Given the description of an element on the screen output the (x, y) to click on. 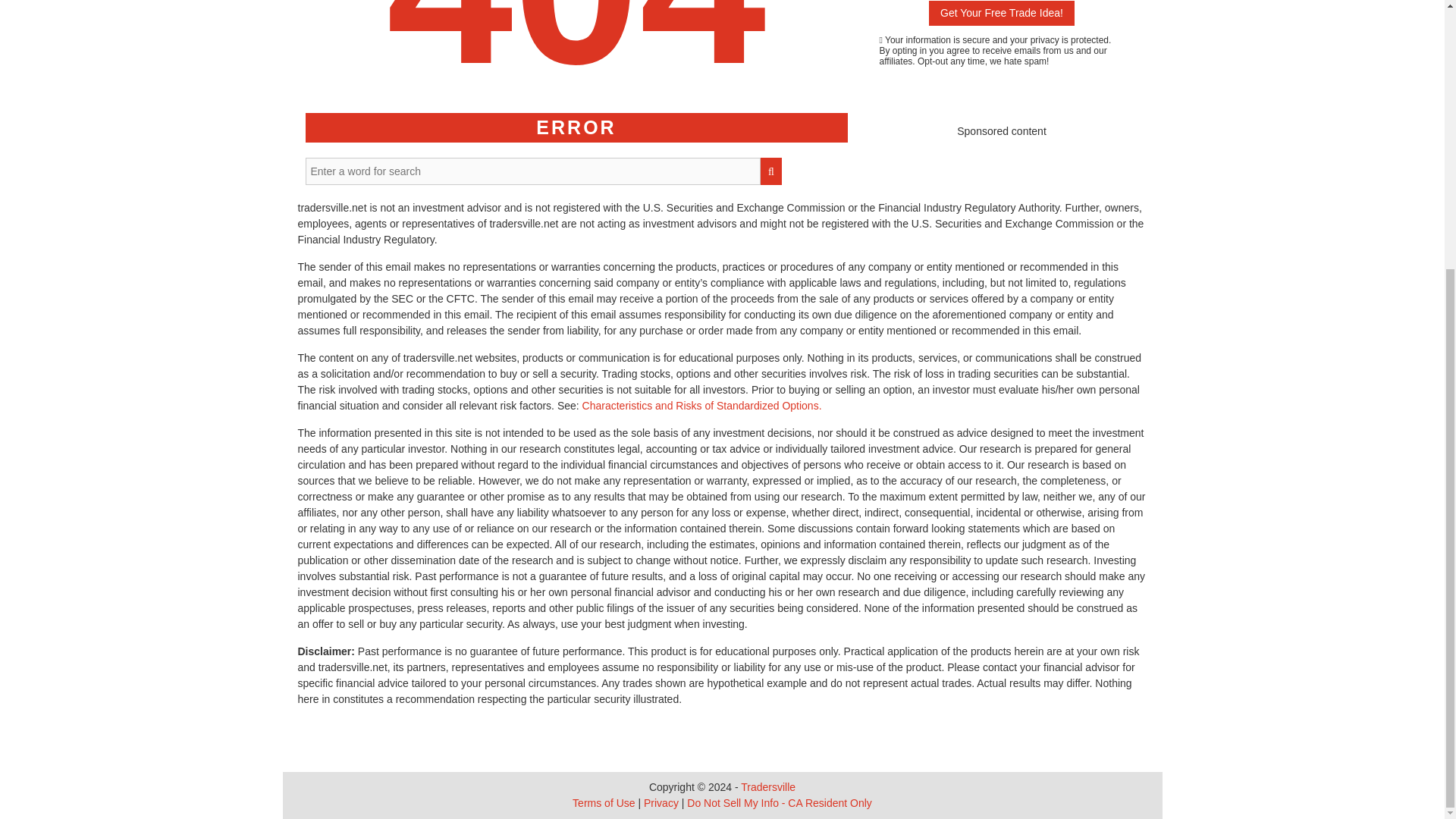
Characteristics and Risks of Standardized Options. (702, 405)
Get Your Free Trade Idea! (1001, 12)
Do Not Sell My Info - CA Resident Only (779, 802)
Privacy (660, 802)
Terms of Use (603, 802)
Tradersville (767, 787)
